Given the description of an element on the screen output the (x, y) to click on. 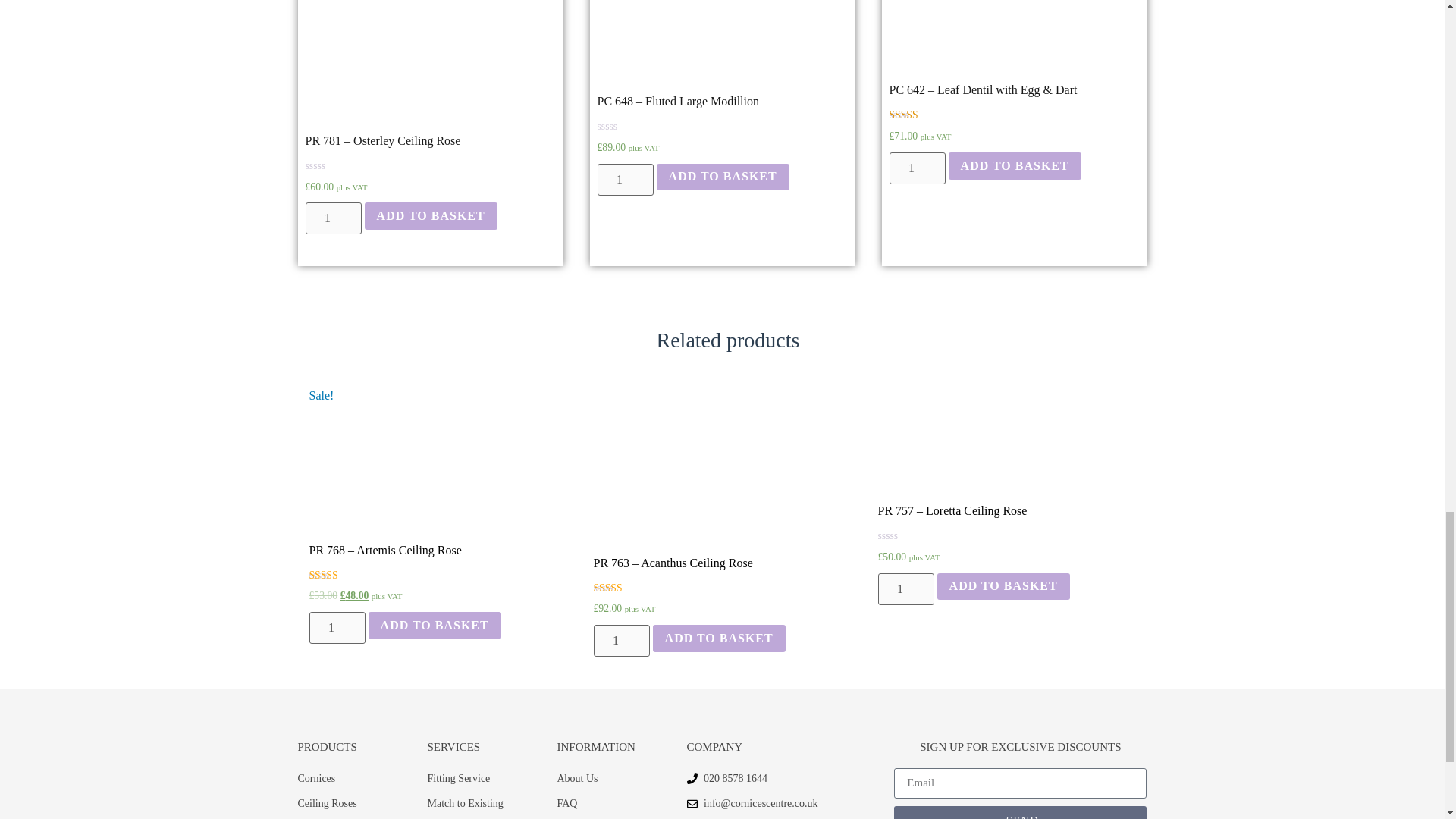
1 (624, 179)
1 (916, 168)
1 (905, 589)
1 (336, 627)
1 (332, 218)
1 (620, 640)
